Given the description of an element on the screen output the (x, y) to click on. 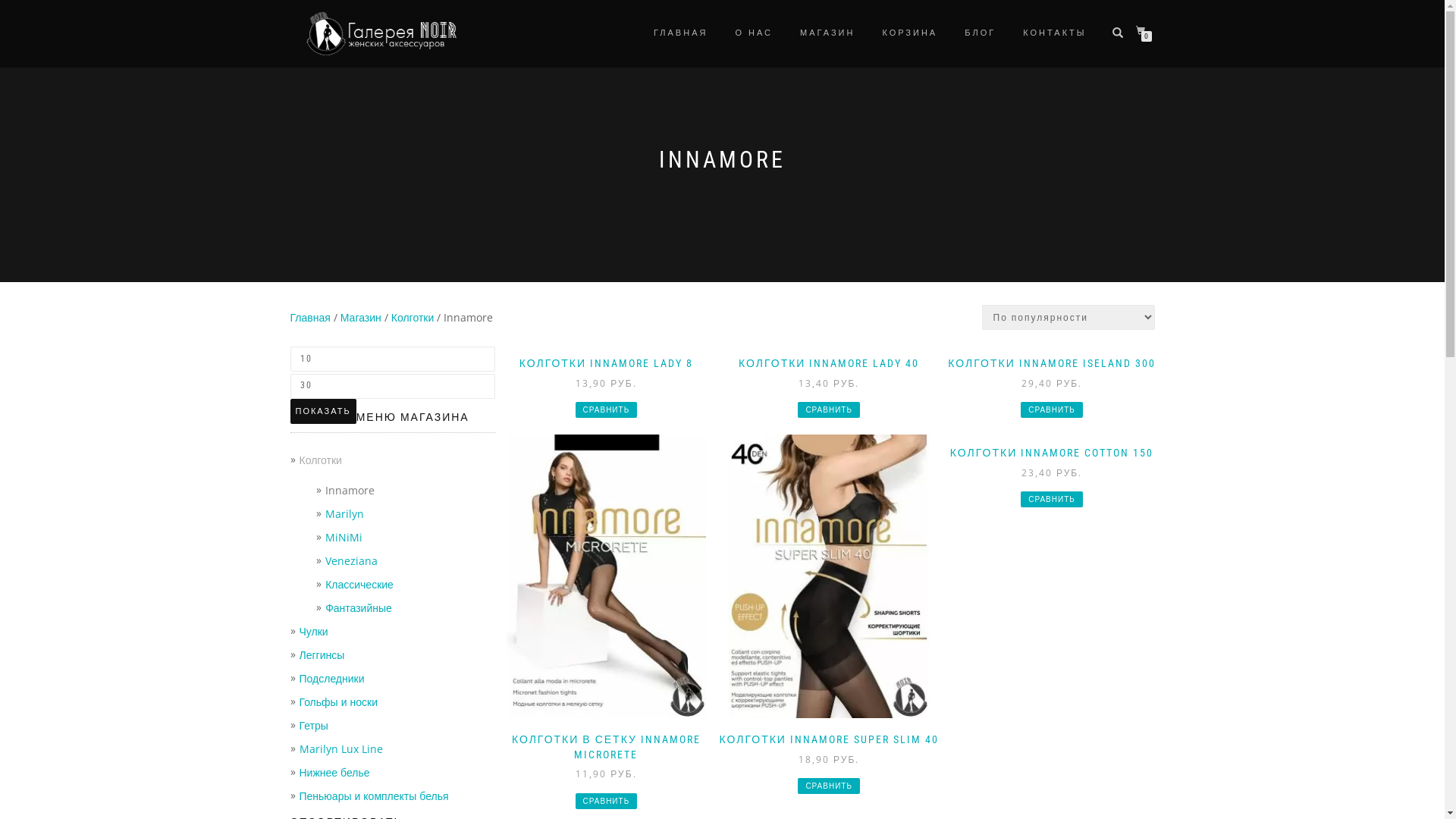
Marilyn Element type: text (344, 513)
Innamore Element type: text (349, 490)
0 Element type: text (1143, 31)
MiNiMi Element type: text (343, 537)
Marilyn Lux Line Element type: text (340, 748)
Veneziana Element type: text (351, 560)
